Given the description of an element on the screen output the (x, y) to click on. 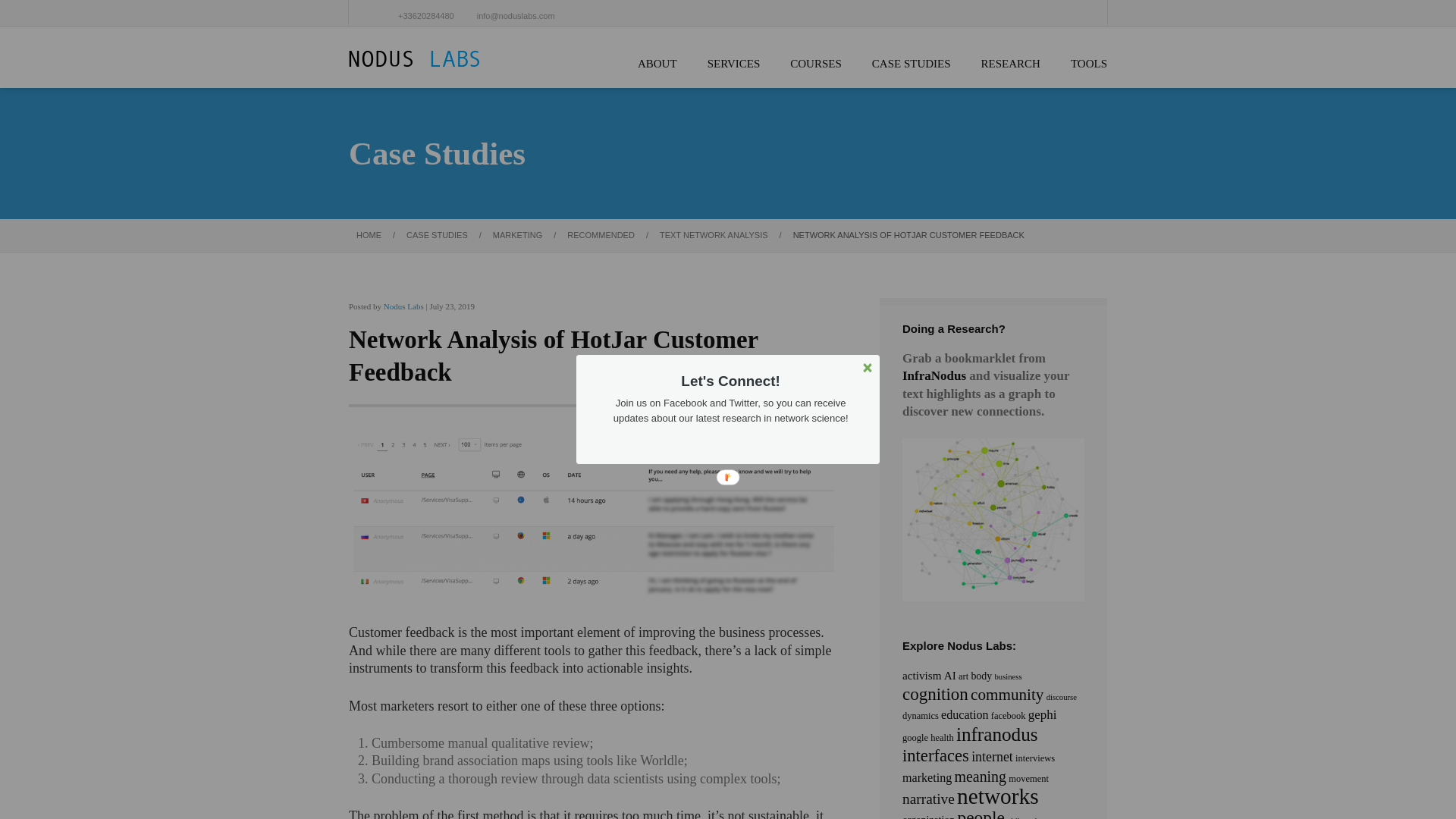
About (657, 63)
SERVICES (733, 63)
Follow noduslabs on Twitter (804, 447)
COURSES (815, 63)
CASE STUDIES (911, 63)
ABOUT (657, 63)
Posts by Nodus Labs (403, 306)
